Given the description of an element on the screen output the (x, y) to click on. 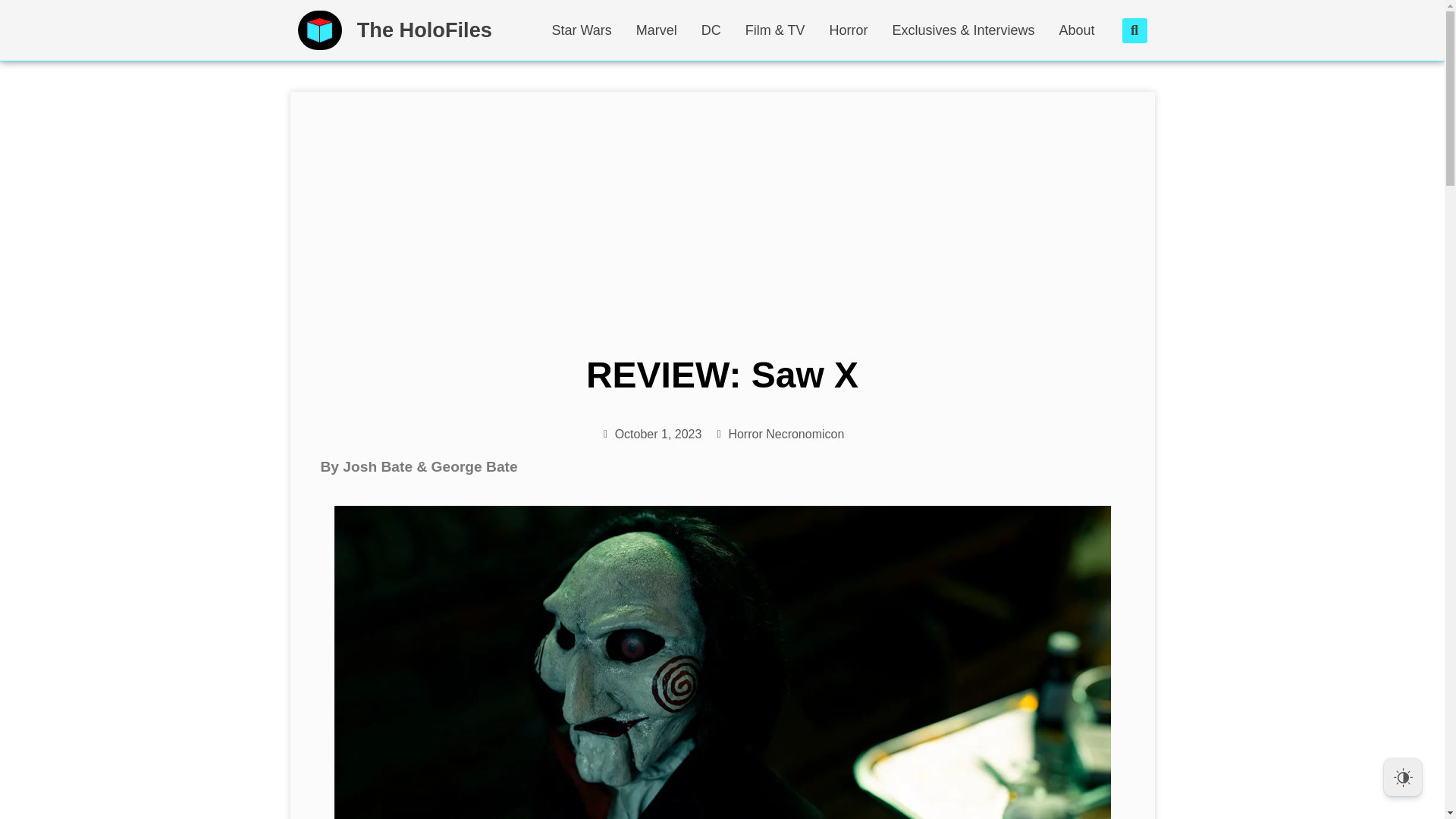
About (1080, 30)
DC (710, 30)
The HoloFiles (424, 29)
Marvel (656, 30)
Horror (847, 30)
Star Wars (580, 30)
